Given the description of an element on the screen output the (x, y) to click on. 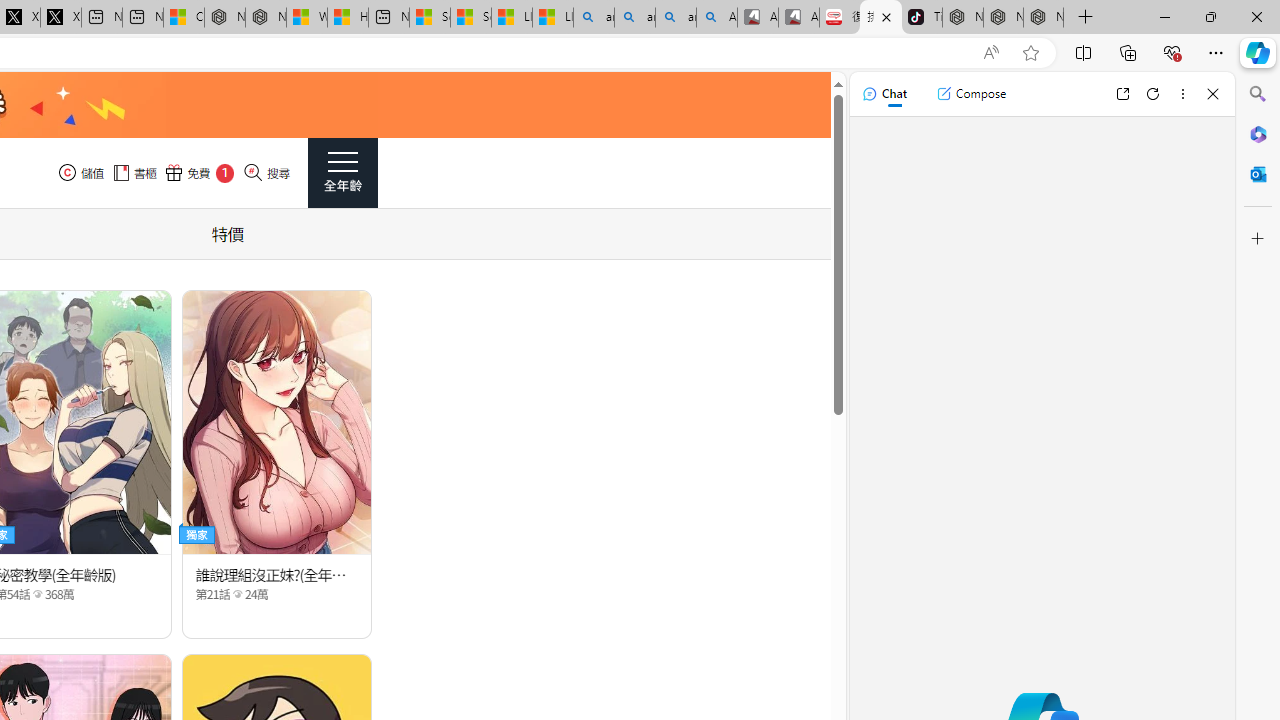
amazon - Search Images (675, 17)
Compose (971, 93)
